Given the description of an element on the screen output the (x, y) to click on. 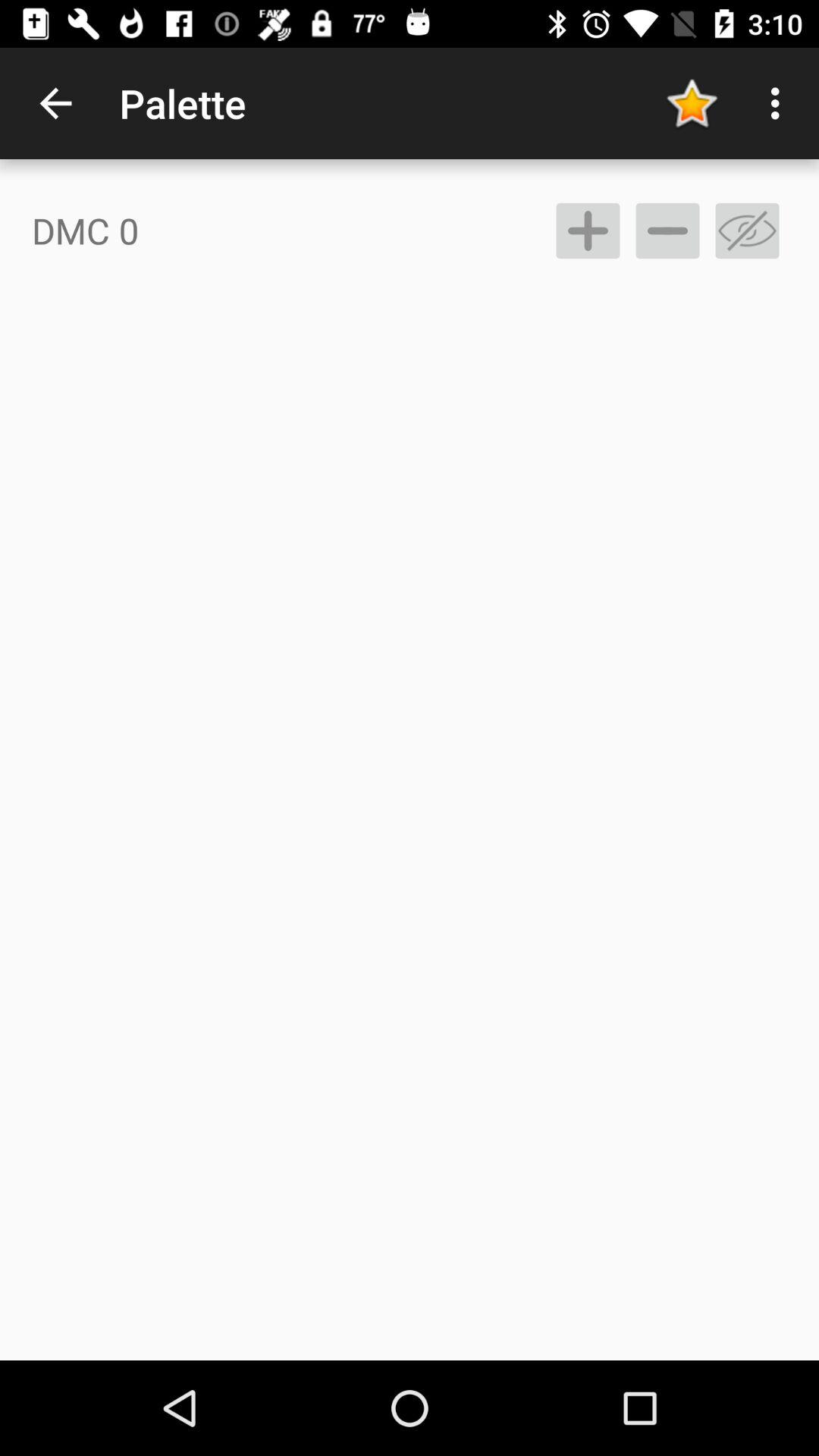
select icon next to the palette item (55, 103)
